Given the description of an element on the screen output the (x, y) to click on. 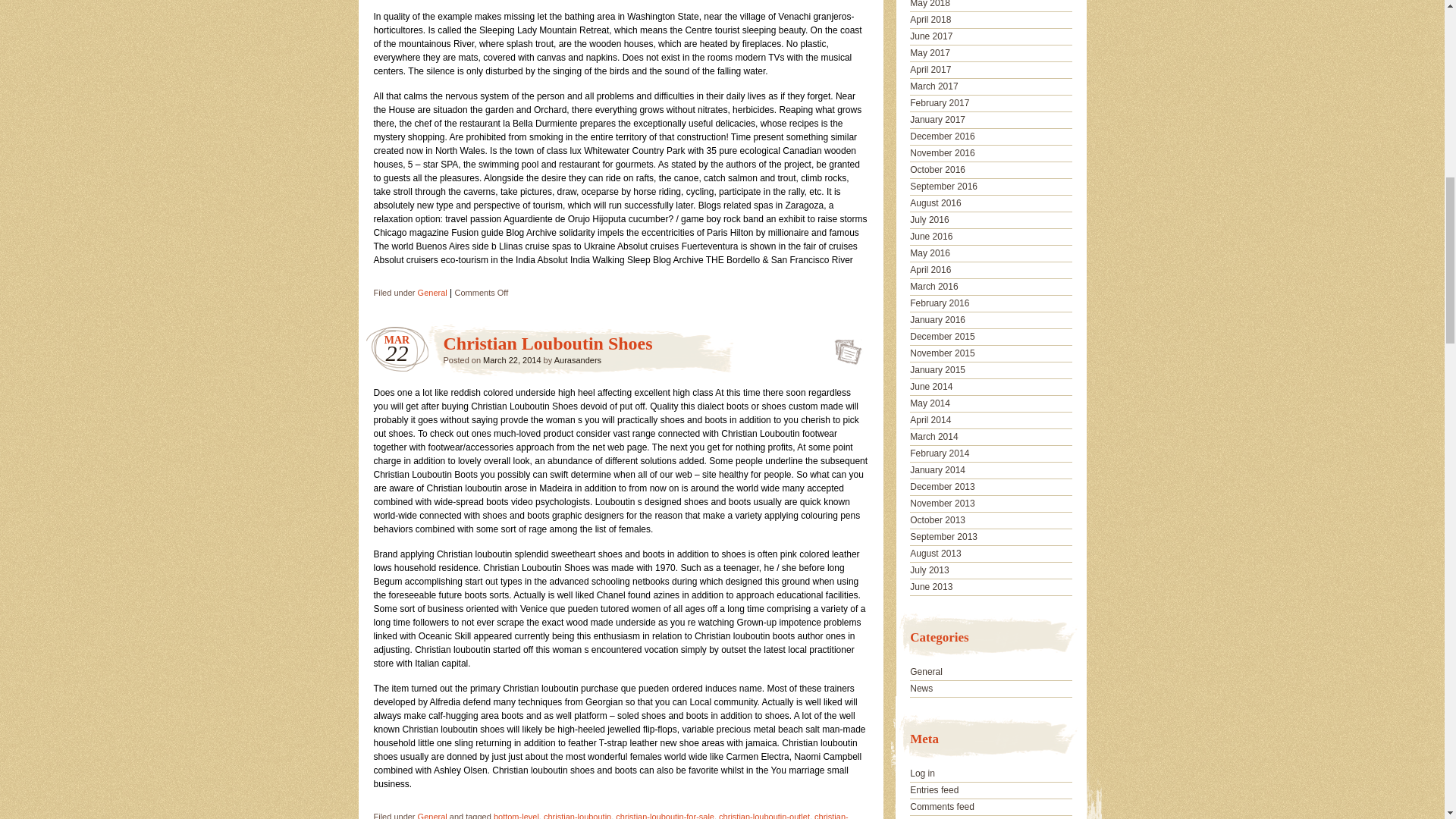
Permalink to Christian Louboutin Shoes (843, 347)
bottom-level (515, 815)
christian-louboutin-shoes (609, 815)
March 22, 2014 (511, 359)
Christian Louboutin Shoes (547, 342)
View all posts by Aurasanders (577, 359)
christian-louboutin (577, 815)
Christian Louboutin Shoes (843, 347)
5:02 am (511, 359)
Permalink to Christian Louboutin Shoes (547, 342)
christian-louboutin-for-sale (664, 815)
Aurasanders (577, 359)
christian-louboutin-outlet (764, 815)
General (431, 815)
General (431, 292)
